Given the description of an element on the screen output the (x, y) to click on. 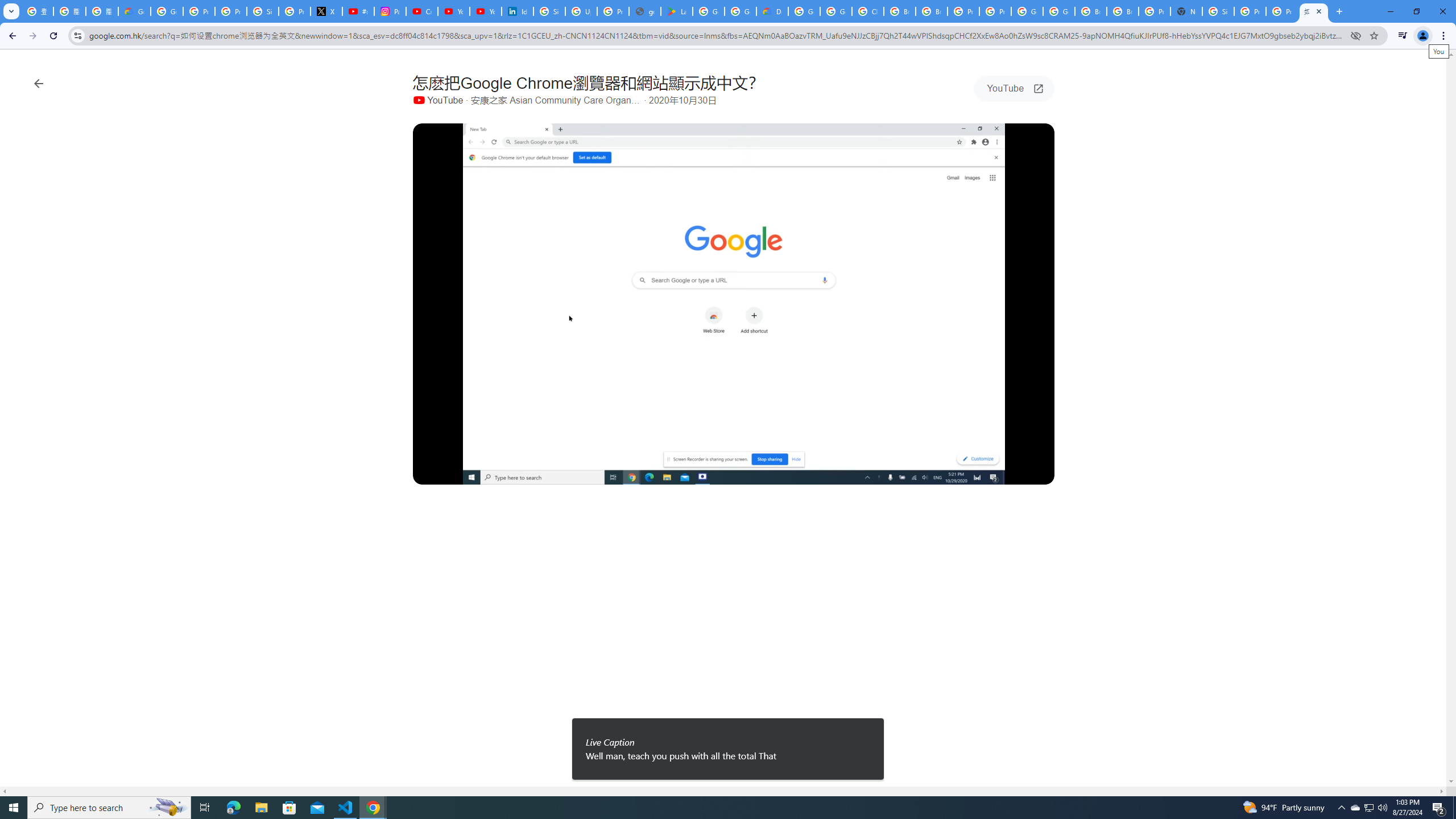
Sign in - Google Accounts (549, 11)
Bookmark this tab (1373, 35)
Browse Chrome as a guest - Computer - Google Chrome Help (931, 11)
Minimize (1390, 11)
Sign in - Google Accounts (1217, 11)
View site information (77, 35)
New Tab (1185, 11)
Settings (975, 472)
Google Cloud Platform (1059, 11)
Browse Chrome as a guest - Computer - Google Chrome Help (1123, 11)
Watch on YouTube (1005, 472)
